Given the description of an element on the screen output the (x, y) to click on. 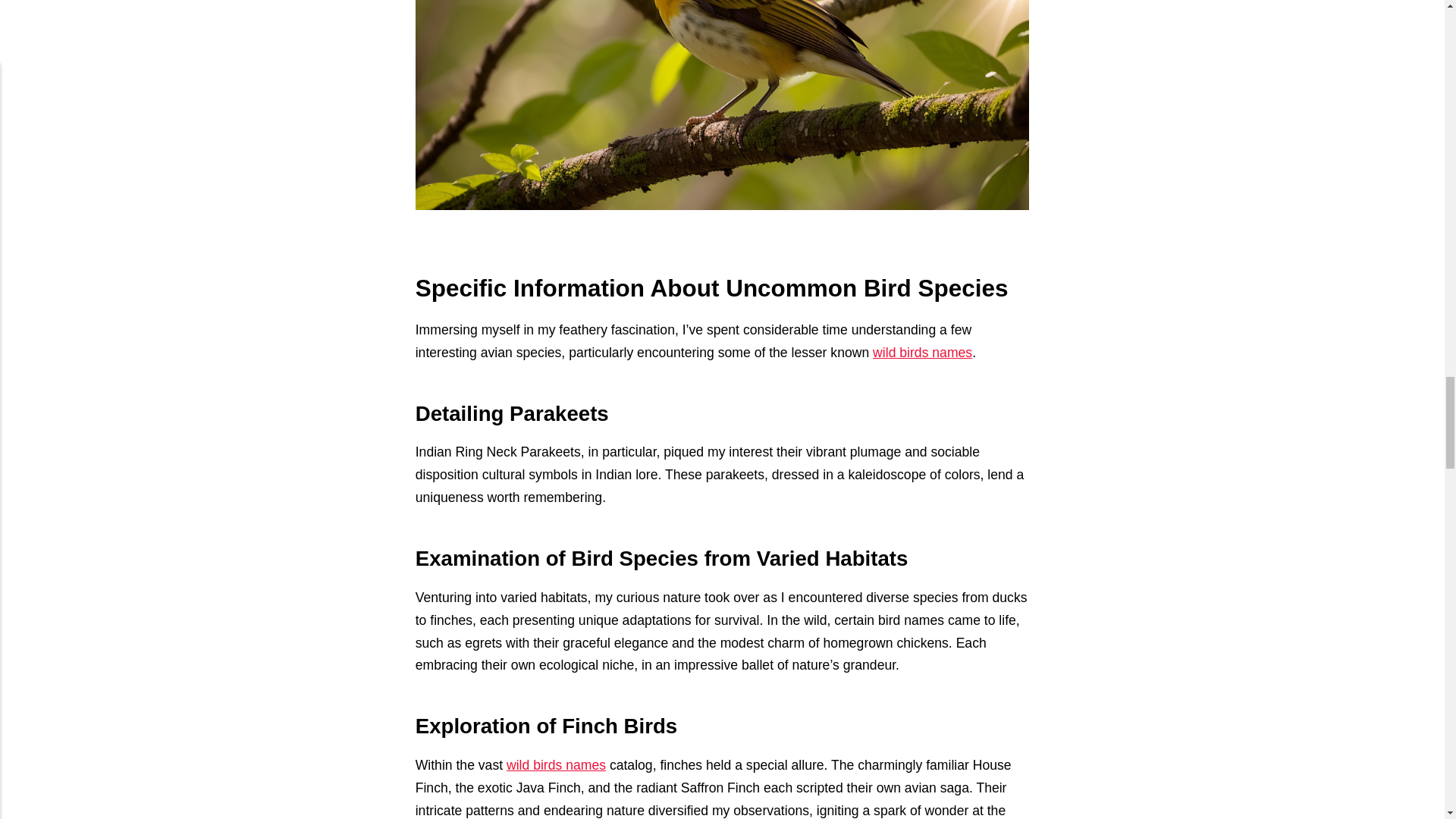
wild birds names (922, 352)
wild birds names (555, 765)
